Given the description of an element on the screen output the (x, y) to click on. 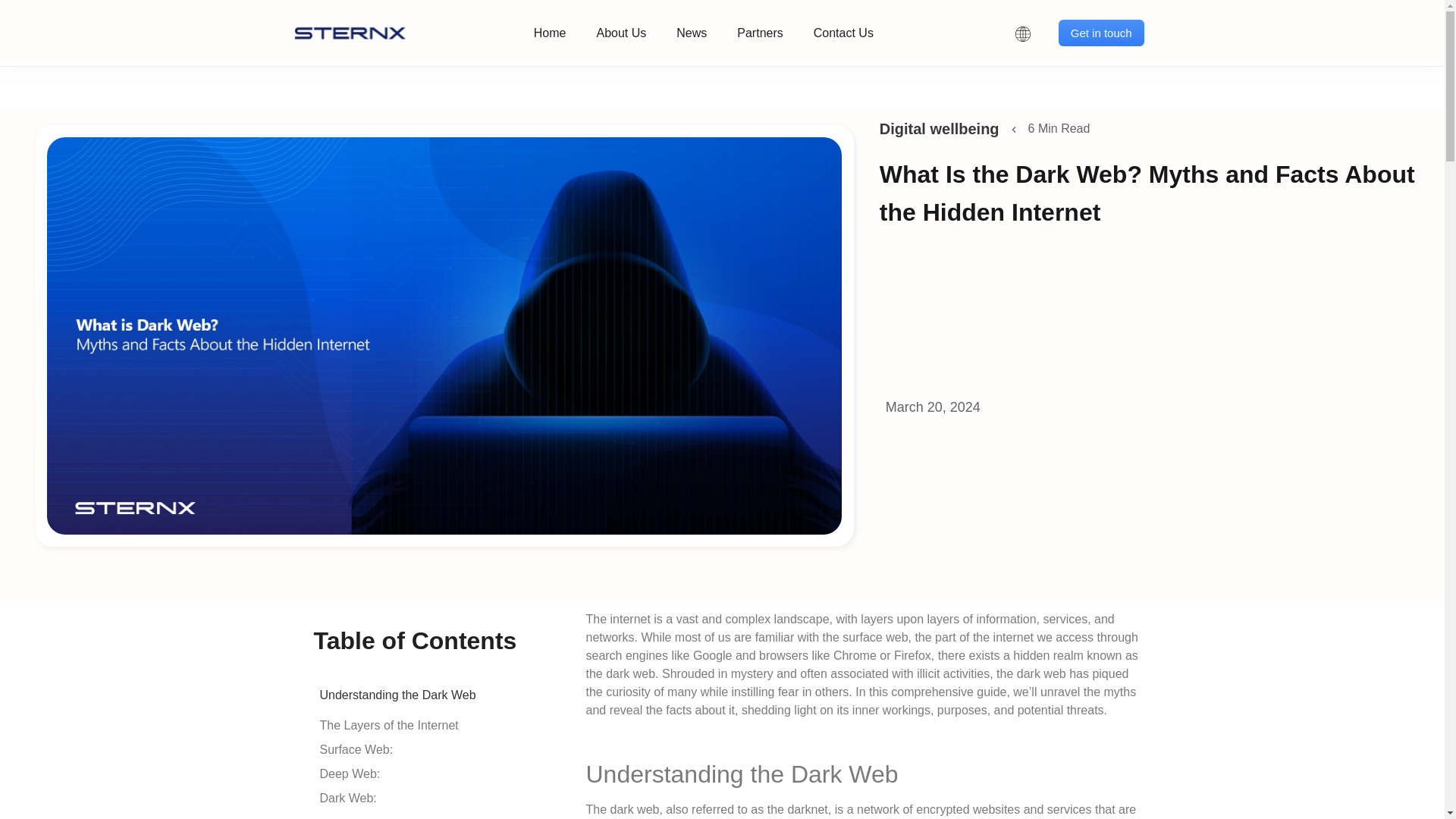
News (691, 32)
Get in touch (1101, 32)
About Us (620, 32)
Partners (759, 32)
Contact Us (842, 32)
Home (549, 32)
